Given the description of an element on the screen output the (x, y) to click on. 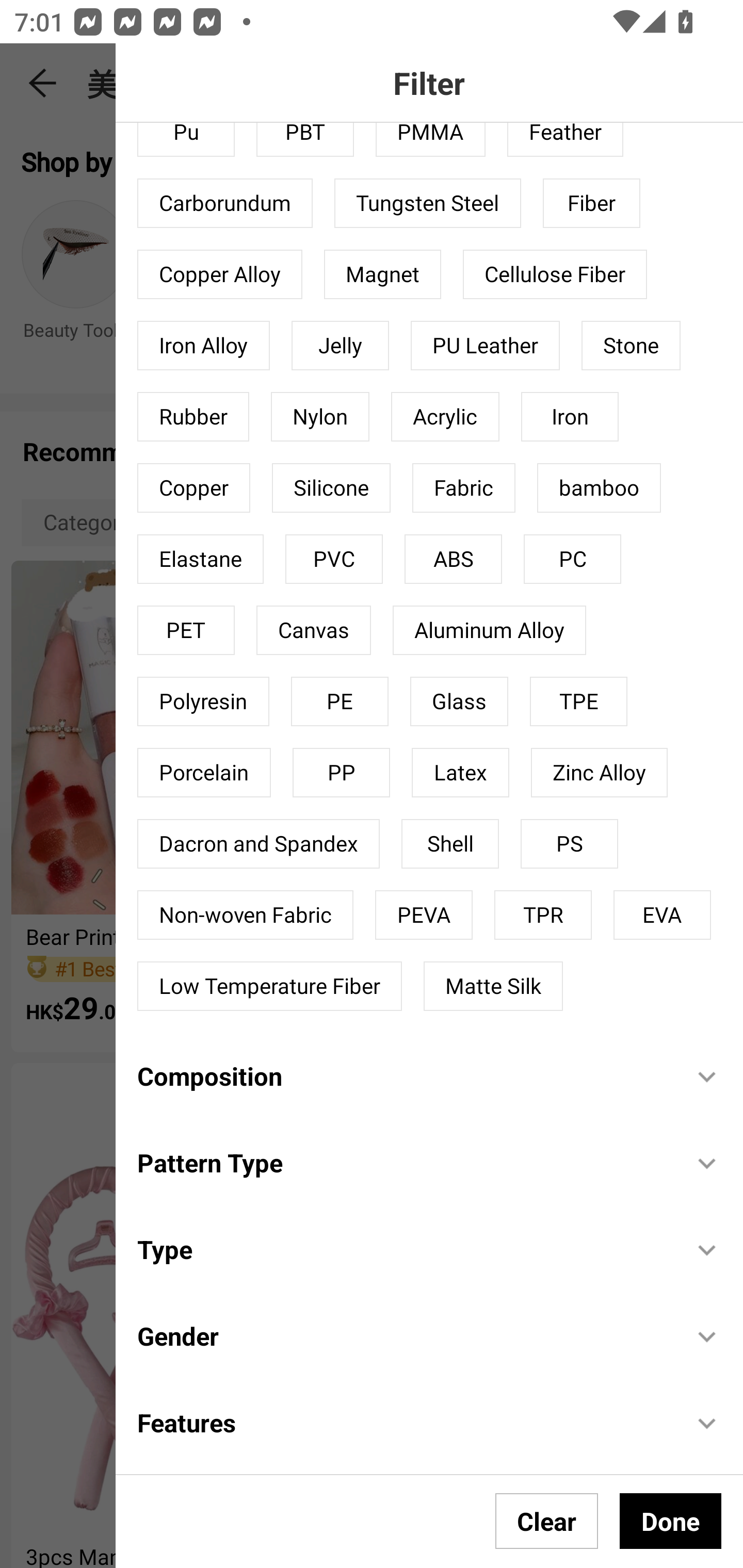
Pu (185, 139)
PBT (304, 139)
PMMA (430, 139)
Feather (565, 139)
Carborundum (224, 202)
Tungsten Steel (427, 202)
Fiber (591, 202)
Copper Alloy (219, 274)
Magnet (382, 274)
Cellulose Fiber (554, 274)
Iron Alloy (203, 345)
Jelly (340, 345)
PU Leather (484, 345)
Stone (630, 345)
Rubber (192, 417)
Nylon (320, 417)
Acrylic (444, 417)
Iron (569, 417)
Copper (193, 487)
Silicone (330, 487)
Fabric (463, 487)
bamboo (599, 487)
Elastane (200, 558)
PVC (333, 558)
ABS (453, 558)
PC (572, 558)
PET (185, 630)
Canvas (313, 630)
Aluminum Alloy (489, 630)
Polyresin (202, 701)
PE (339, 701)
Glass (459, 701)
TPE (578, 701)
Porcelain (204, 772)
PP (341, 772)
Latex (459, 772)
Zinc Alloy (599, 772)
Dacron and Spandex (258, 843)
Shell (450, 843)
PS (569, 843)
Non-woven Fabric (245, 914)
PEVA (423, 914)
TPR (543, 914)
EVA (662, 914)
Low Temperature Fiber (269, 986)
Matte Silk (493, 986)
Composition (403, 1075)
Pattern Type (403, 1162)
Type (403, 1249)
Gender (403, 1335)
Features (403, 1422)
Clear (546, 1520)
Done (670, 1520)
